Given the description of an element on the screen output the (x, y) to click on. 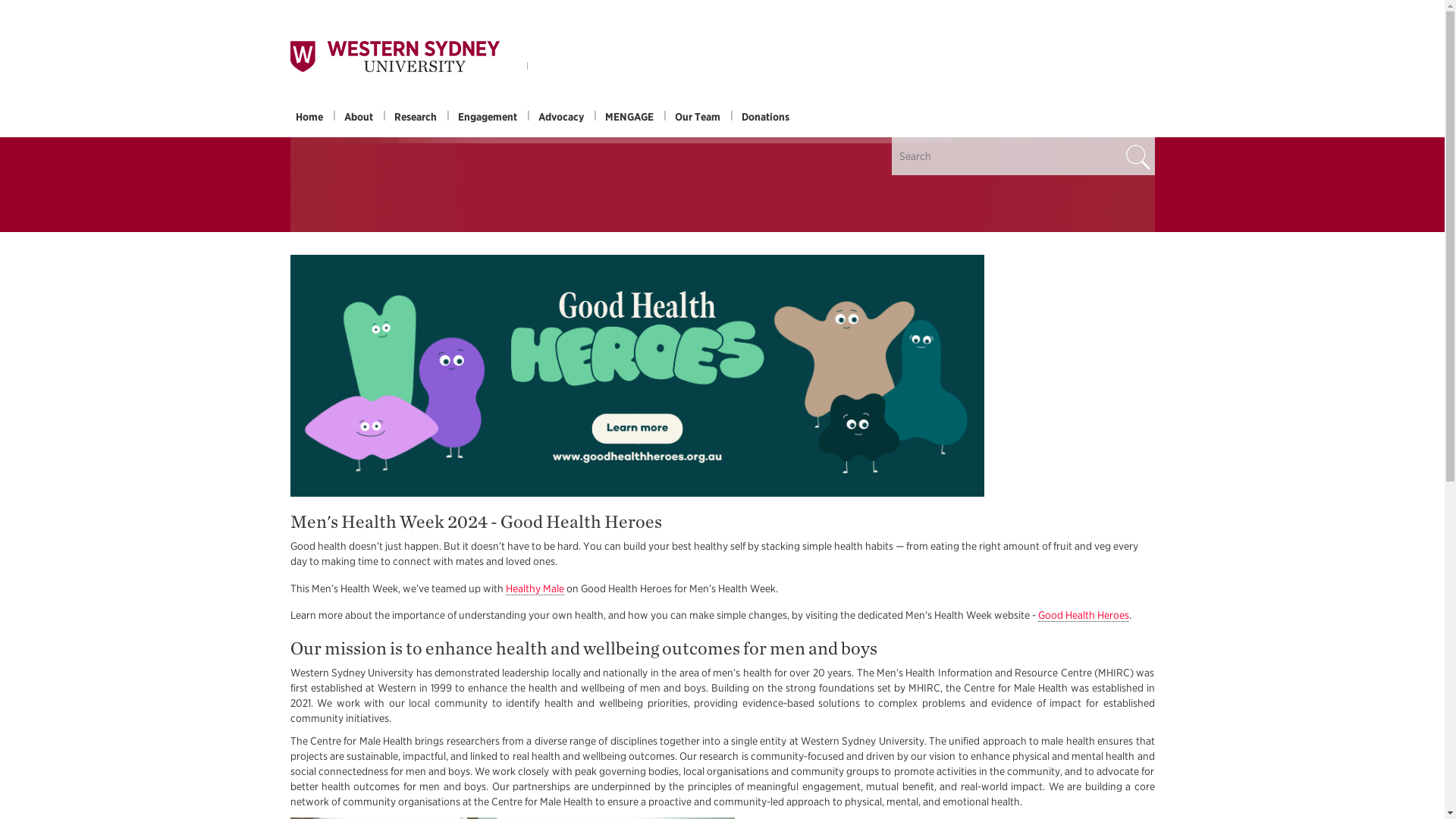
Engagement (486, 116)
MENGAGE (628, 116)
Good Health Heroes (1082, 615)
Healthy Male (534, 588)
About (357, 116)
Home (309, 116)
Our Team (696, 116)
Healthy Male (534, 588)
Research (415, 116)
Advocacy (560, 116)
Donations (764, 116)
